Given the description of an element on the screen output the (x, y) to click on. 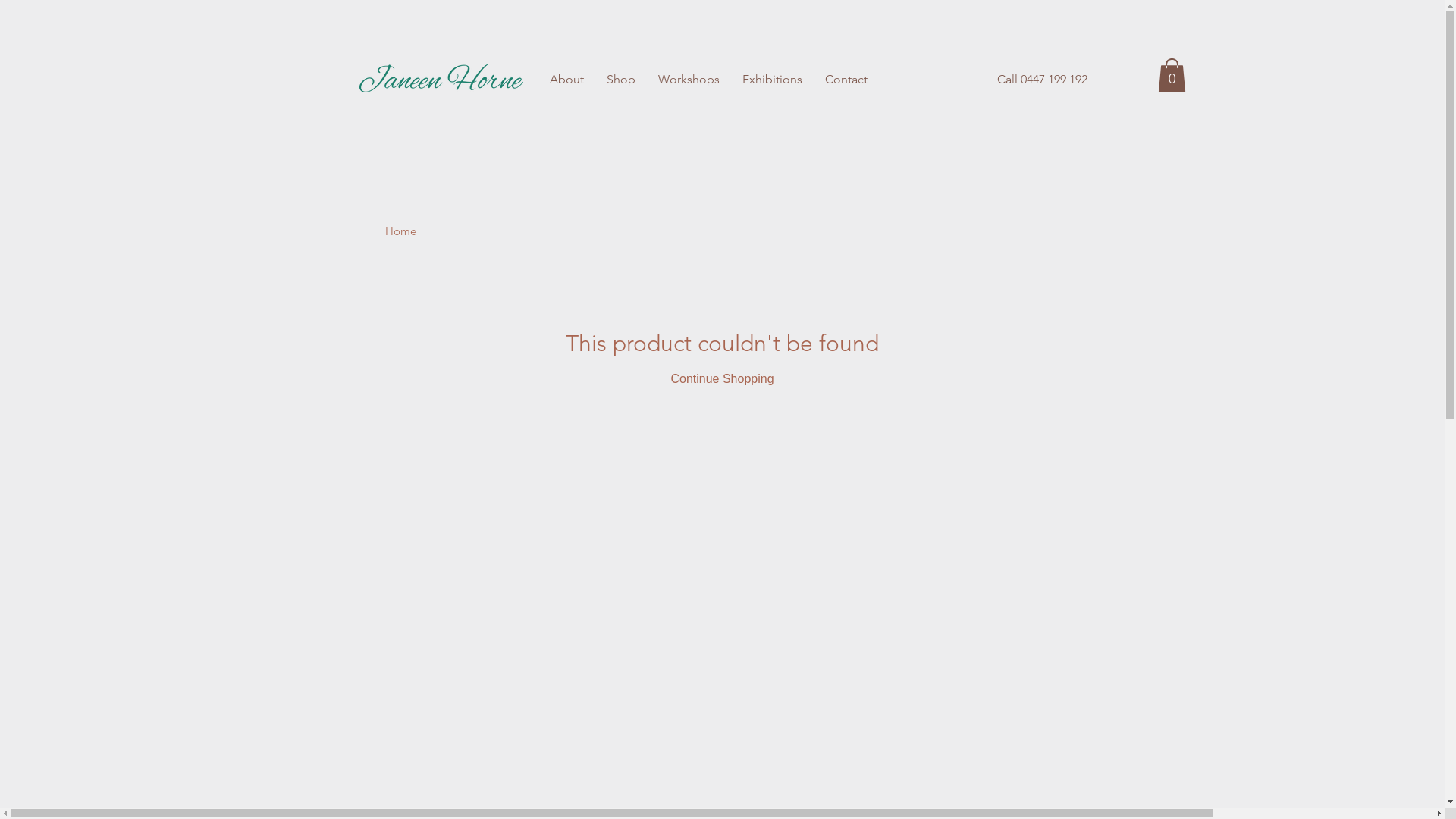
Shop Element type: text (620, 79)
About Element type: text (566, 79)
0 Element type: text (1171, 74)
Home Element type: text (400, 230)
Exhibitions Element type: text (772, 79)
Continue Shopping Element type: text (721, 378)
Contact Element type: text (845, 79)
Workshops Element type: text (688, 79)
